Given the description of an element on the screen output the (x, y) to click on. 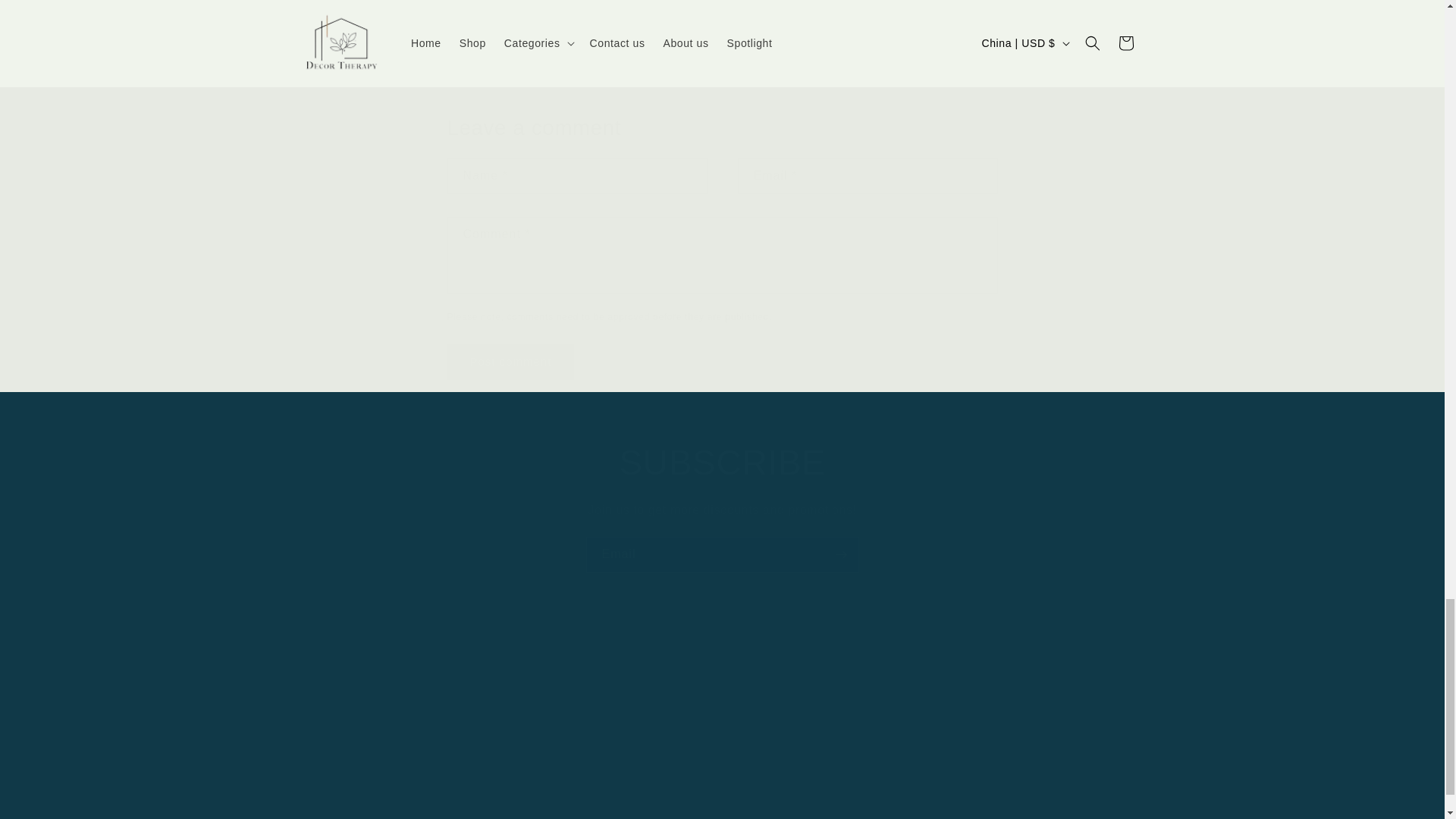
Email (722, 554)
Post comment (510, 361)
SUBSCRIBE (721, 462)
Join us to get more discounts and promotions! (722, 510)
